Given the description of an element on the screen output the (x, y) to click on. 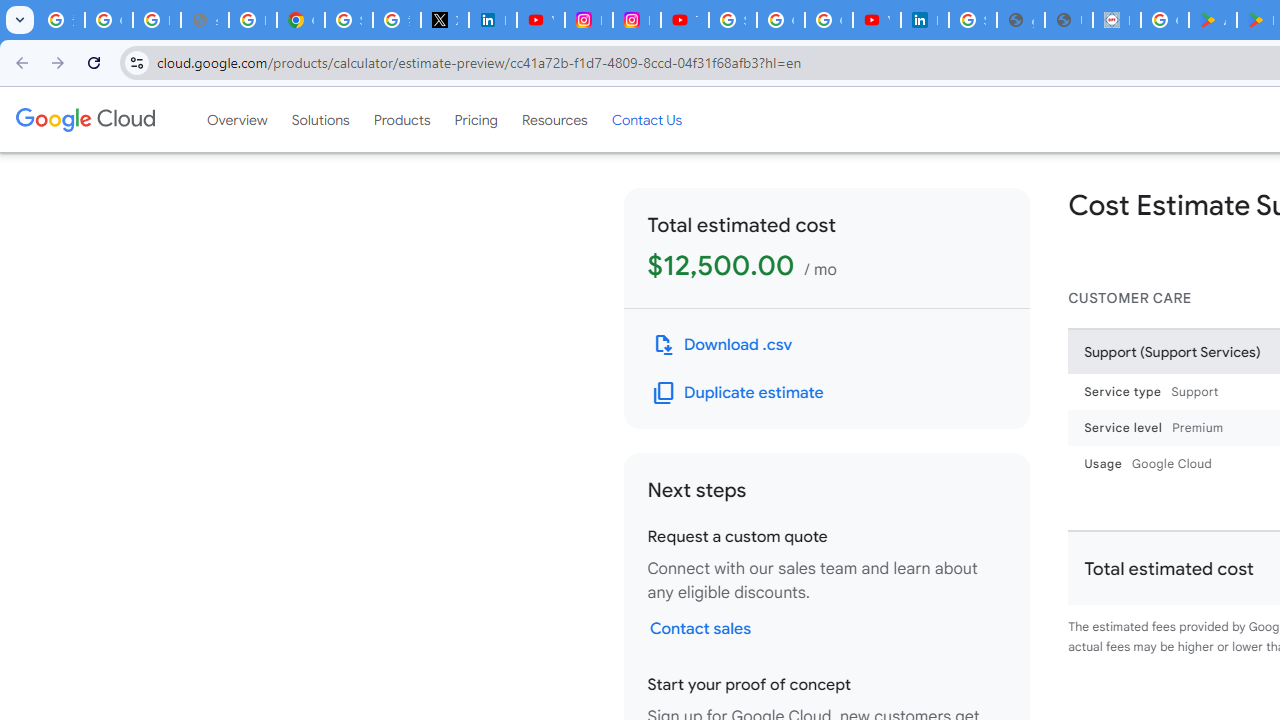
Google Cloud (84, 119)
Sign in - Google Accounts (348, 20)
Sign in - Google Accounts (972, 20)
YouTube Content Monetization Policies - How YouTube Works (540, 20)
Resources (553, 119)
Data Privacy Framework (1116, 20)
google_privacy_policy_en.pdf (1020, 20)
